Given the description of an element on the screen output the (x, y) to click on. 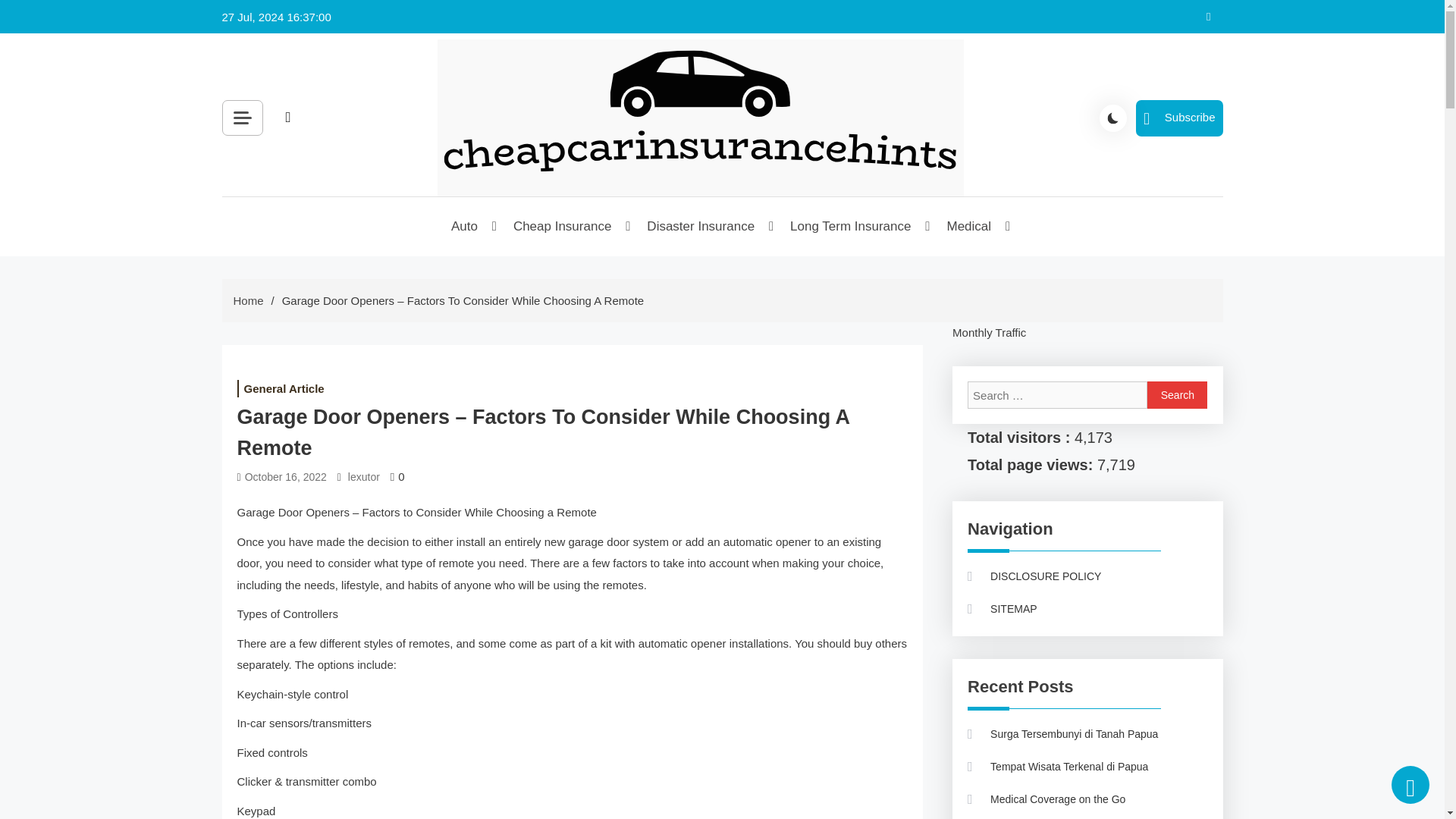
Search (1177, 394)
Subscribe (1179, 117)
Auto (464, 226)
Search (458, 152)
site mode button (1112, 117)
cheapcarinsurancehints (594, 215)
Search (1177, 394)
Disaster Insurance (701, 226)
Cheap Insurance (563, 226)
Long Term Insurance (851, 226)
